Given the description of an element on the screen output the (x, y) to click on. 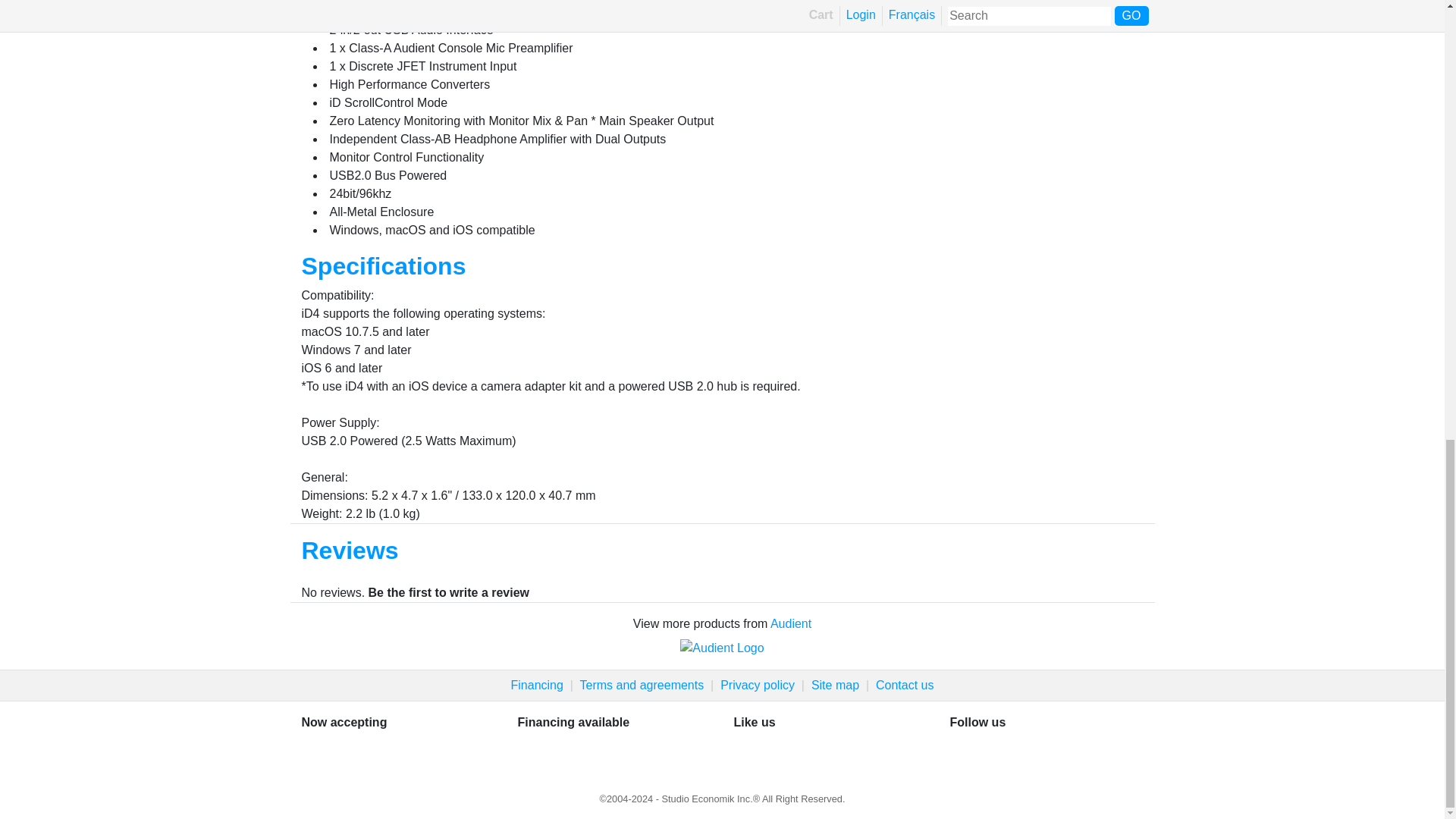
Be the first to write a review (448, 592)
Financing (537, 684)
Audient (790, 623)
